Given the description of an element on the screen output the (x, y) to click on. 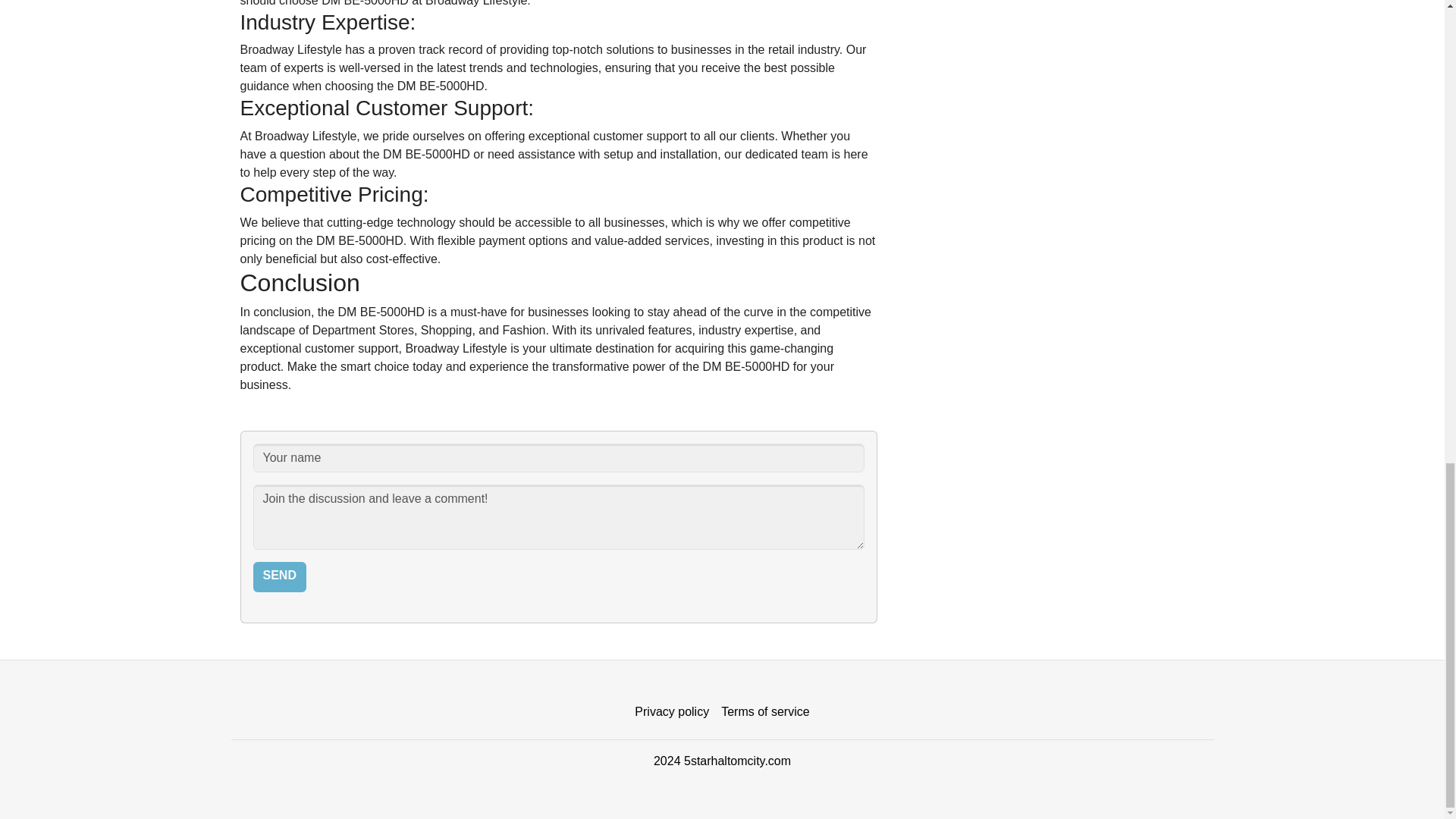
Terms of service (764, 711)
Send (279, 576)
Send (279, 576)
Privacy policy (671, 711)
